Given the description of an element on the screen output the (x, y) to click on. 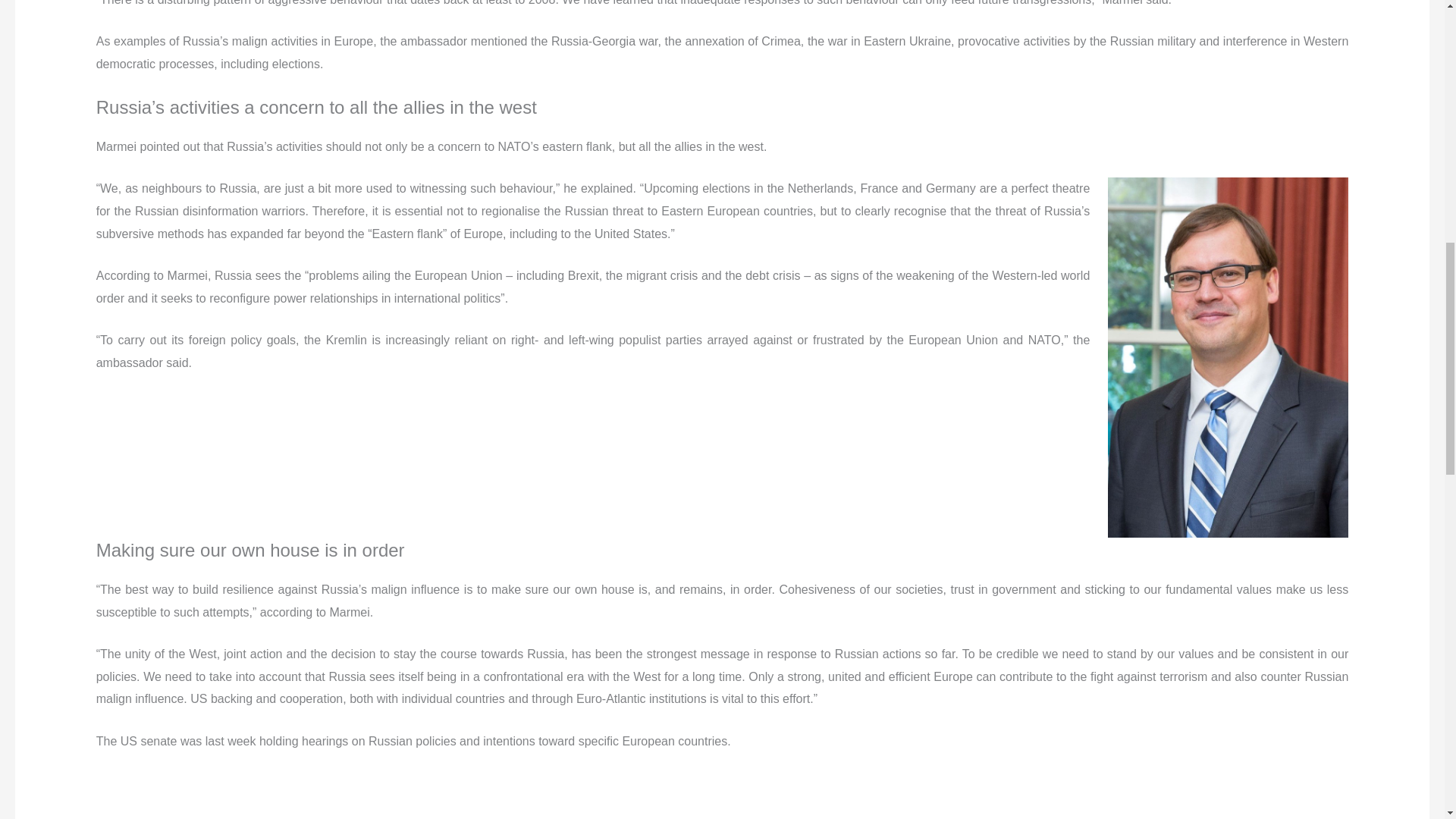
Eerik Marmei at the White House in 2014. (1228, 357)
